Given the description of an element on the screen output the (x, y) to click on. 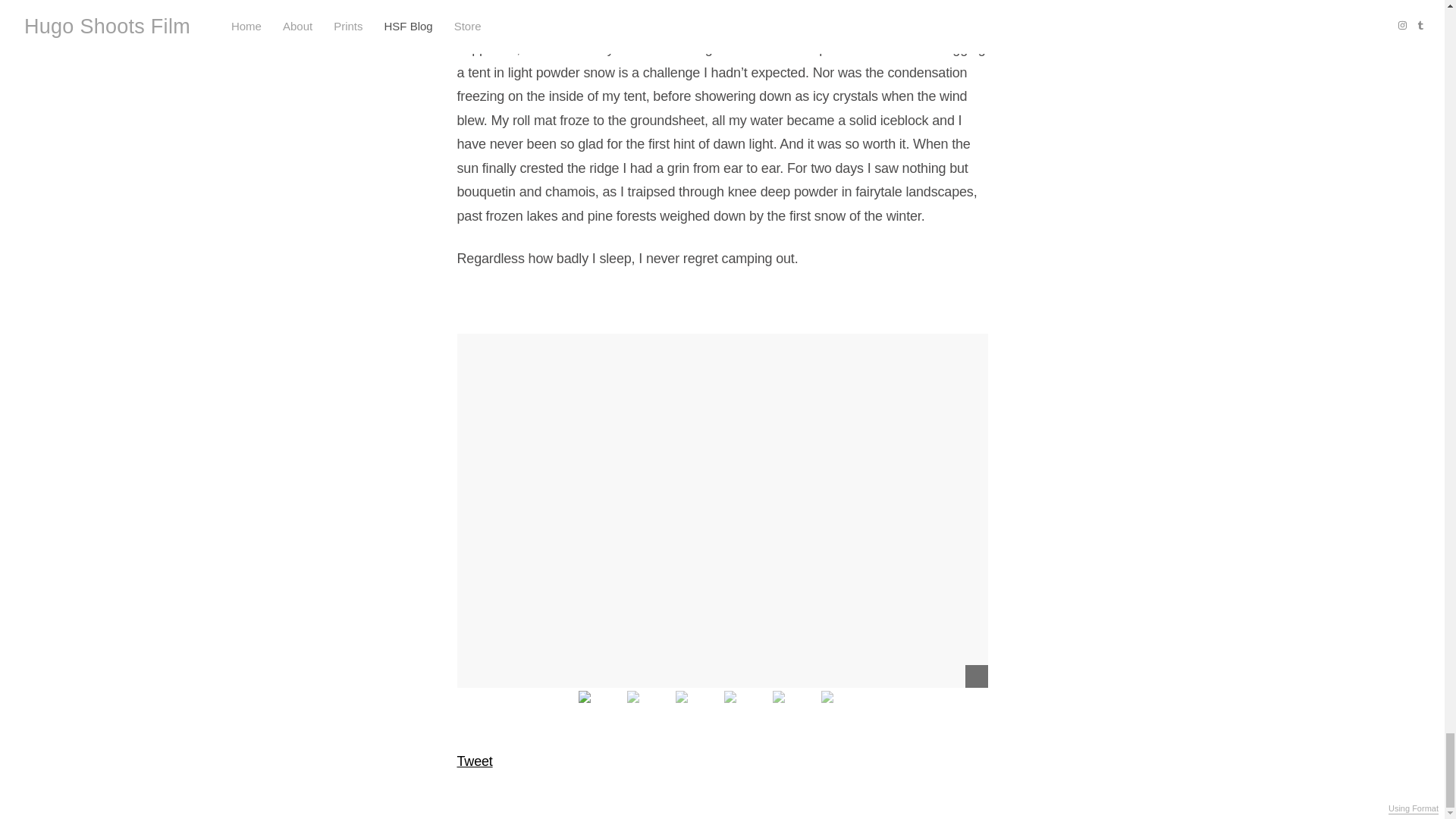
Tweet (474, 761)
toggle (975, 676)
